Given the description of an element on the screen output the (x, y) to click on. 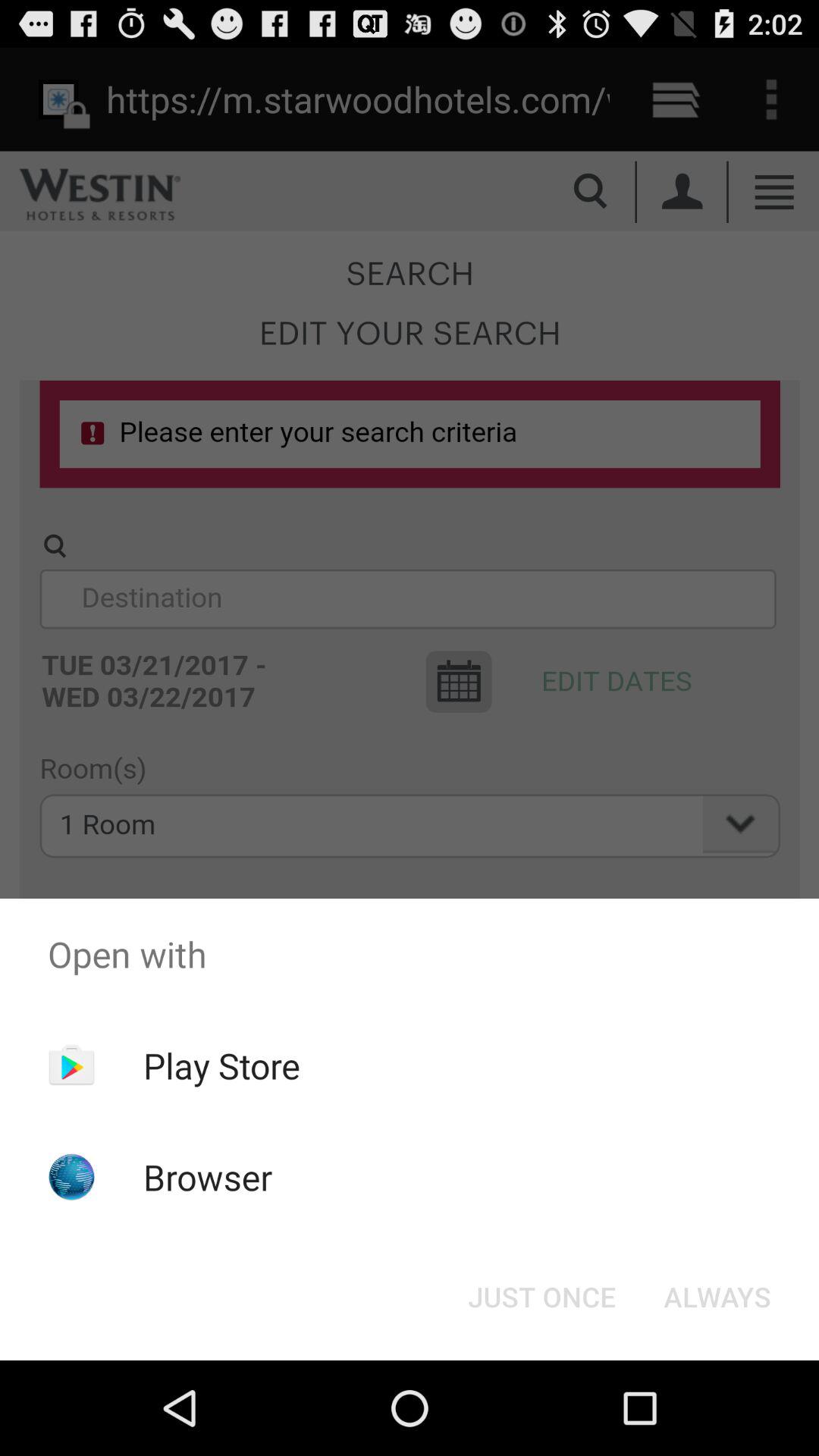
flip until the always button (717, 1296)
